Given the description of an element on the screen output the (x, y) to click on. 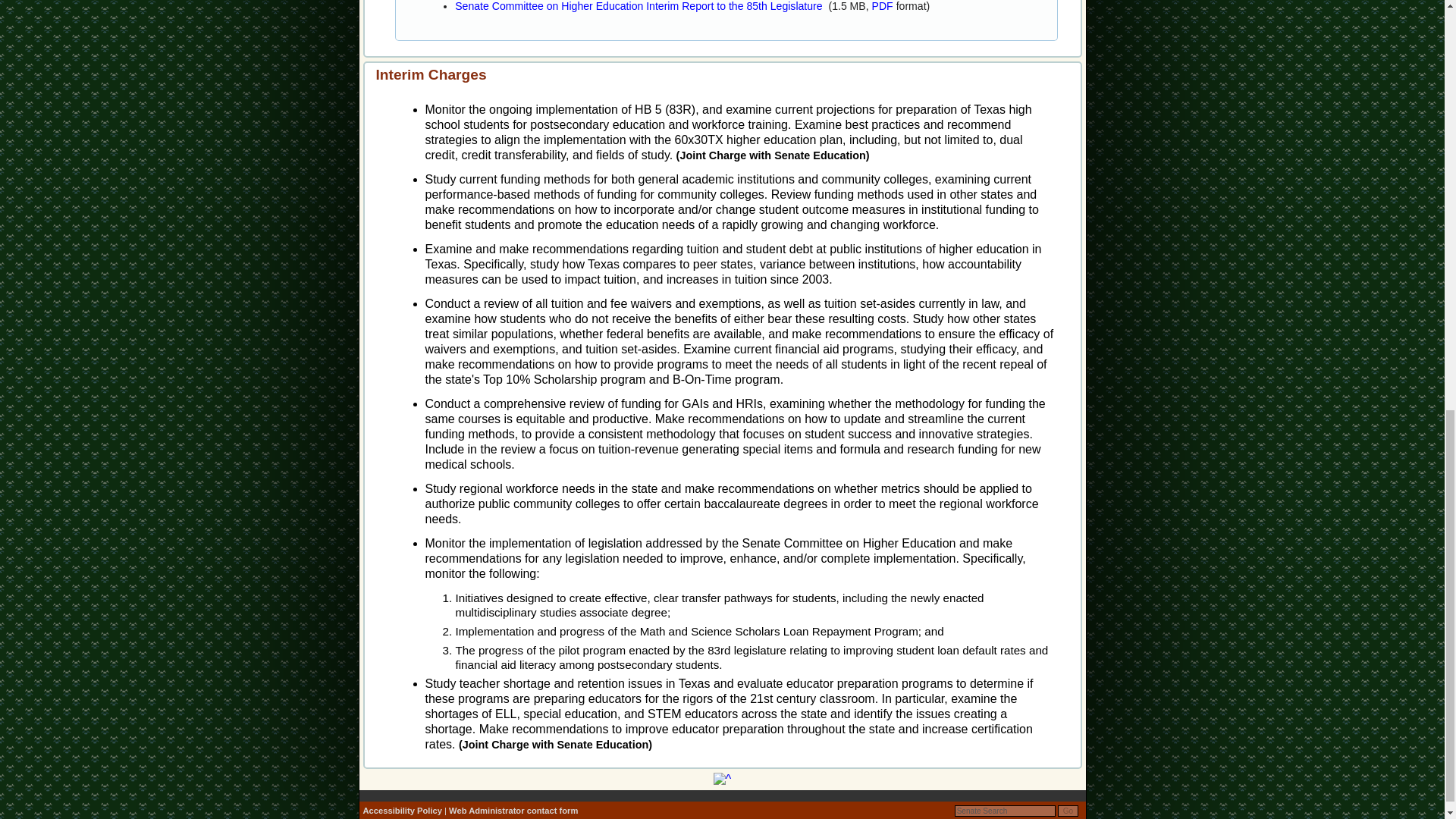
Search (1005, 810)
Top (722, 779)
Go (1068, 810)
Senate Search (1005, 810)
